Given the description of an element on the screen output the (x, y) to click on. 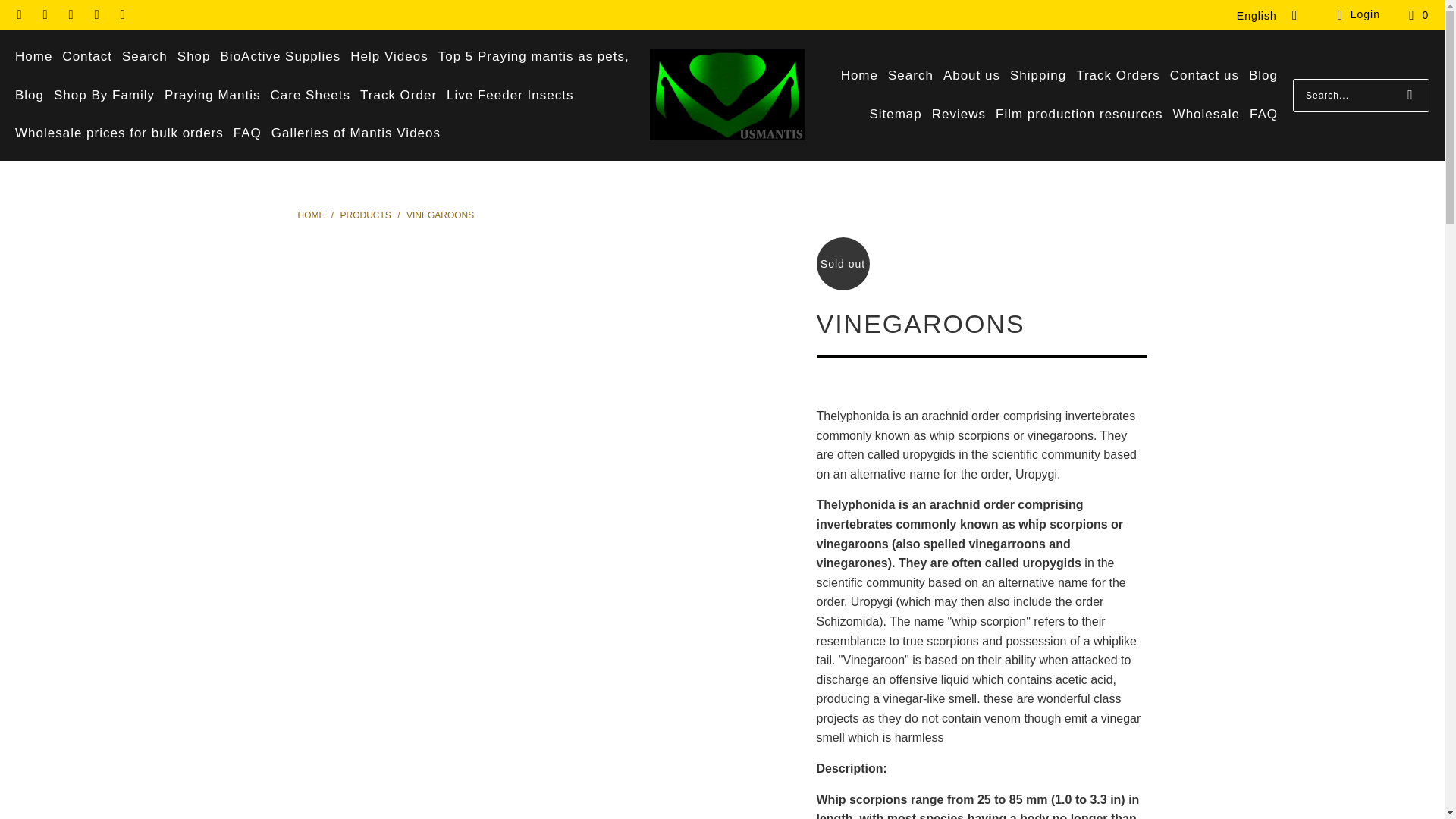
My Account  (1356, 14)
USMANTIS (727, 95)
USMANTIS on Instagram (70, 15)
USMANTIS (311, 214)
USMANTIS on YouTube (122, 15)
USMANTIS on Facebook (44, 15)
USMANTIS on TikTok (95, 15)
Products (367, 214)
Email USMANTIS (18, 15)
